Given the description of an element on the screen output the (x, y) to click on. 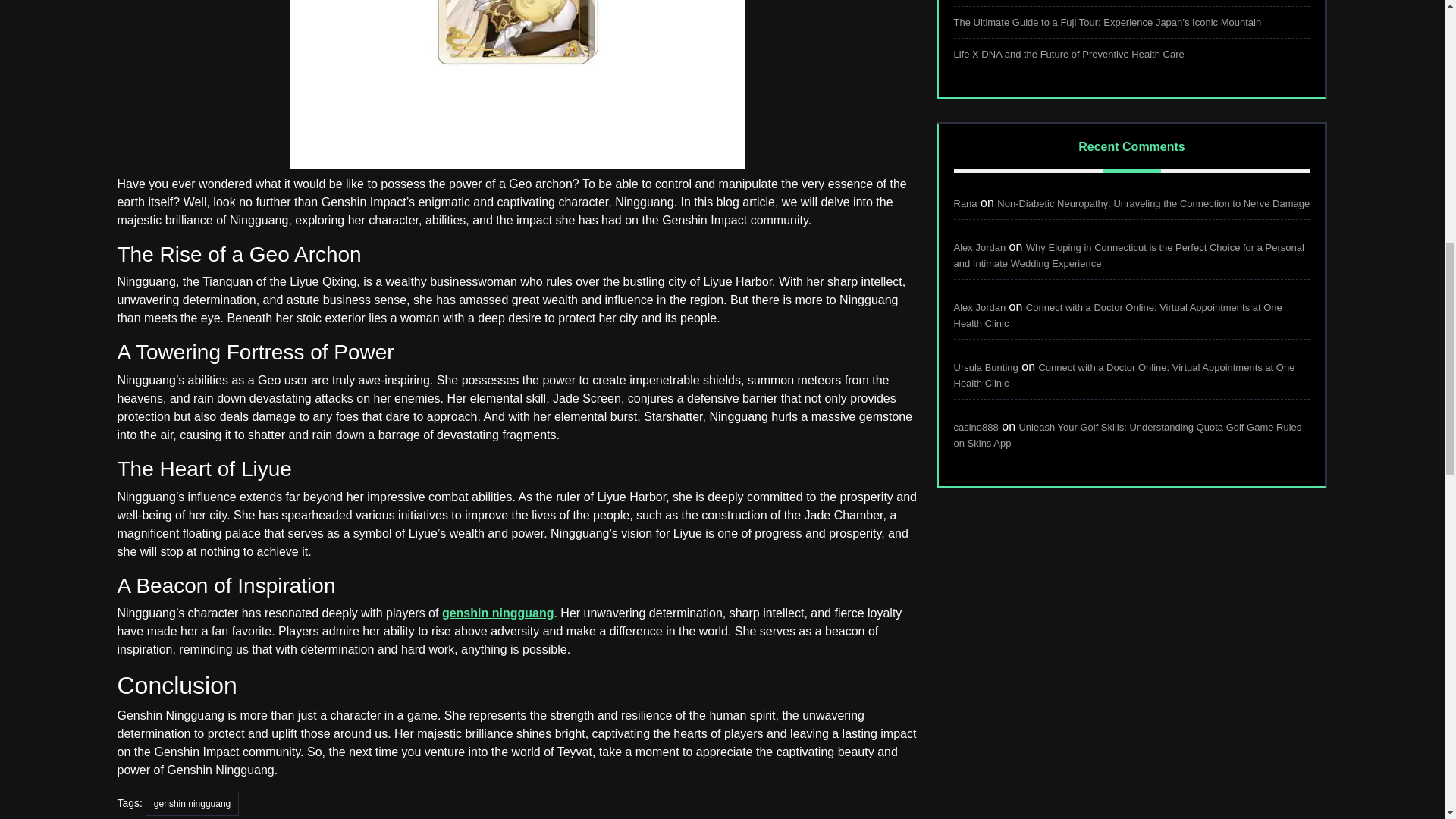
genshin ningguang (498, 612)
Life X DNA and the Future of Preventive Health Care (1069, 53)
genshin ningguang (191, 803)
casino888 (975, 427)
